Given the description of an element on the screen output the (x, y) to click on. 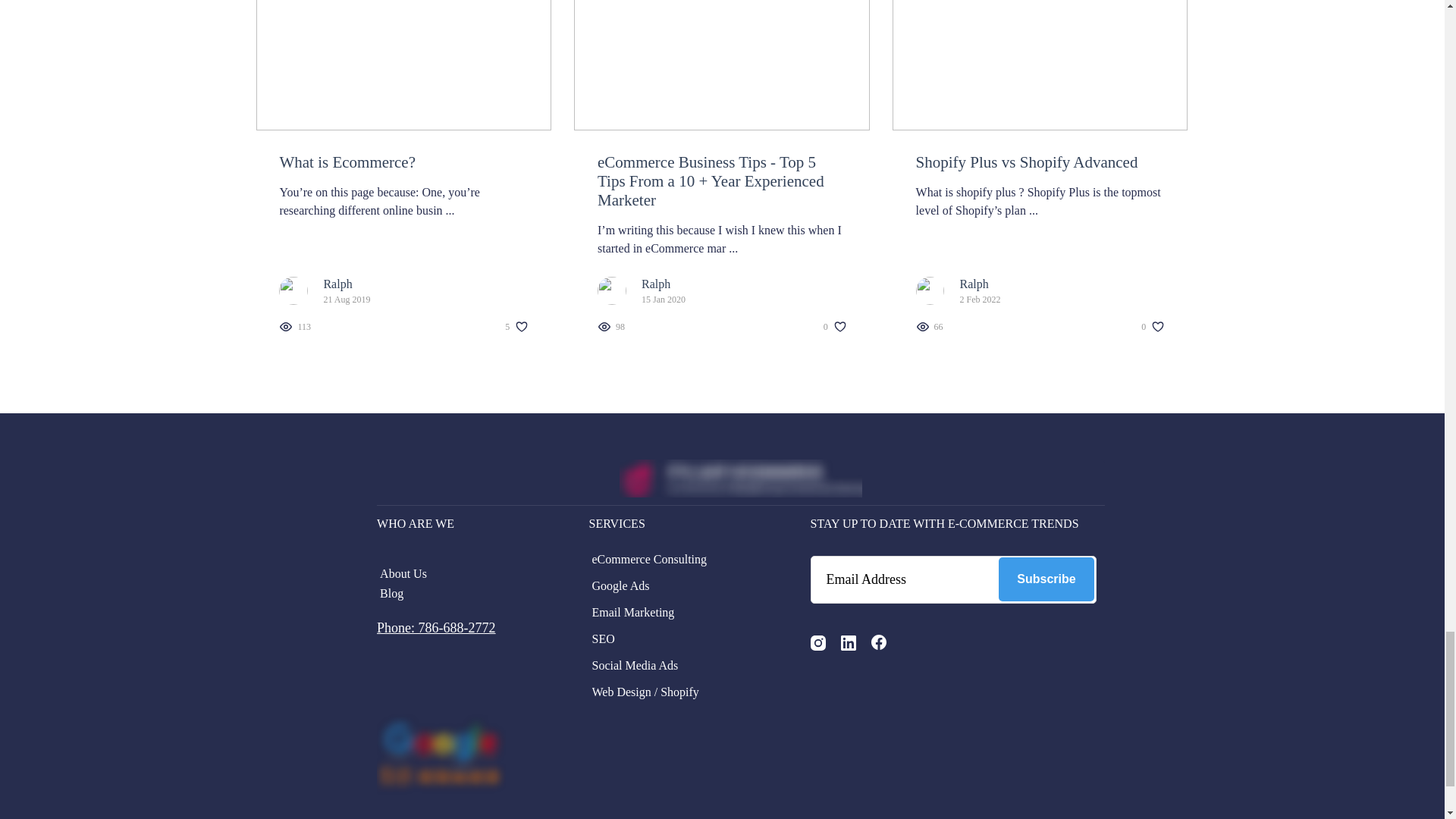
eCommerce Consulting (682, 558)
SEO (682, 639)
Phone: 786-688-2772 (436, 627)
About Us (471, 573)
Email Marketing (682, 612)
Google Ads (682, 585)
Social Media Ads (682, 665)
Blog (471, 593)
